Given the description of an element on the screen output the (x, y) to click on. 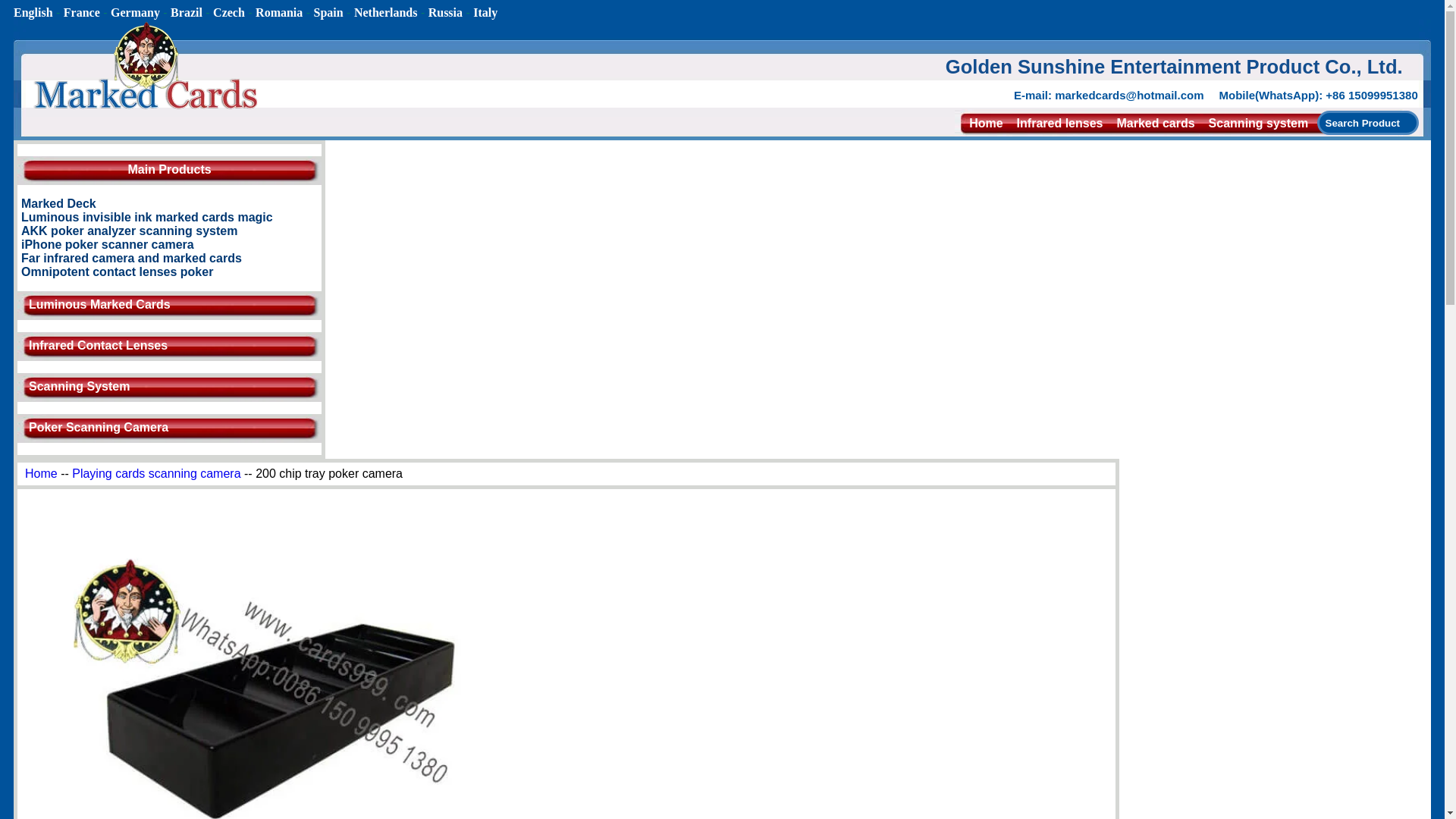
Czech (228, 11)
Luminous invisible ink marked cards magic (147, 216)
Marked Deck (58, 203)
Home (986, 123)
Romania (279, 11)
Germany (135, 11)
Infrared lenses (1059, 123)
Far infrared camera and marked cards (131, 257)
Brazil (186, 11)
Russia (445, 11)
AKK poker analyzer scanning system (129, 230)
Netherlands (385, 11)
Scanner camera (1162, 137)
Spain (328, 11)
